Given the description of an element on the screen output the (x, y) to click on. 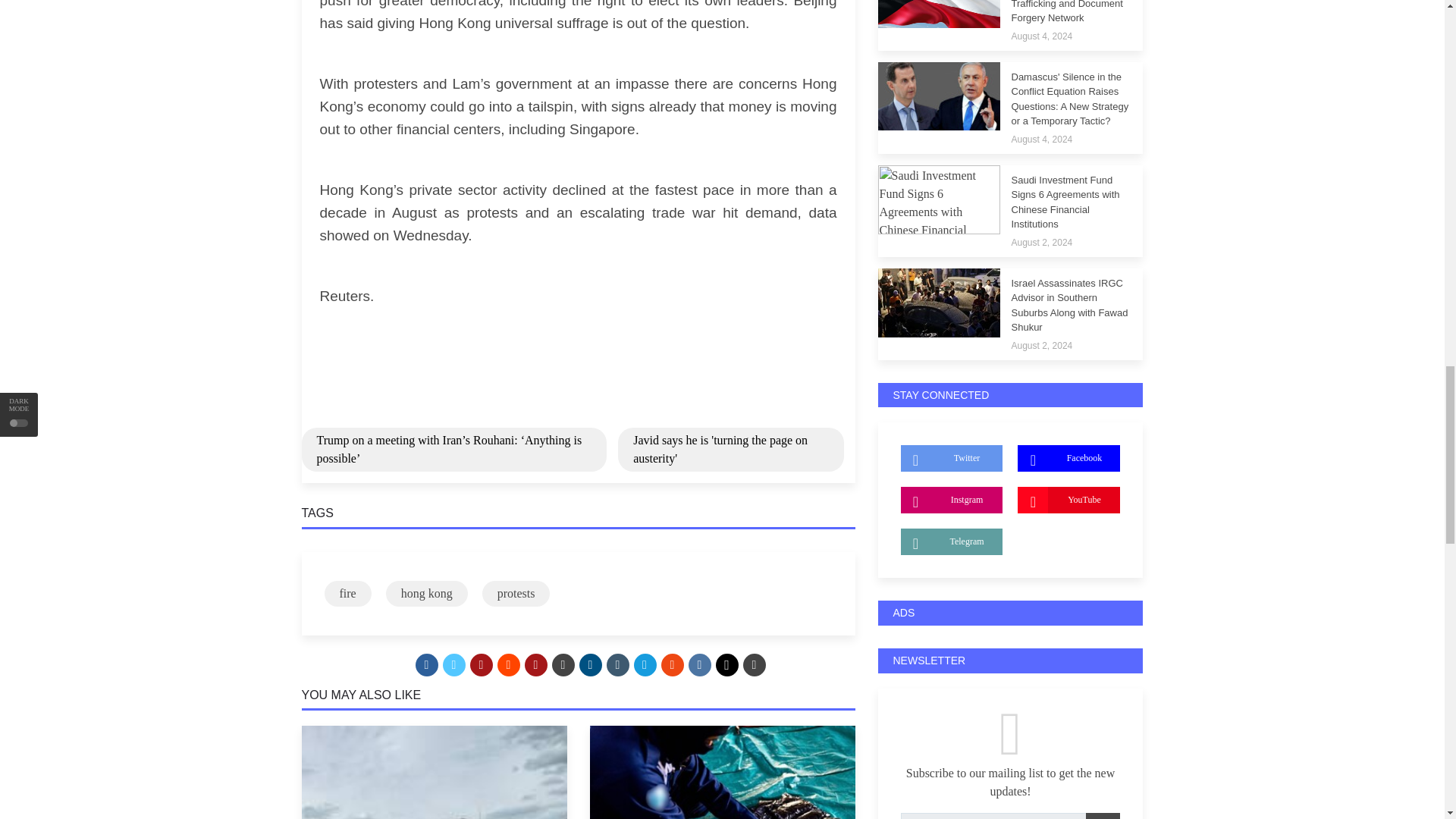
Javid says he is 'turning the page on austerity' (730, 449)
fire (347, 593)
hong kong (426, 593)
protests (515, 593)
